Given the description of an element on the screen output the (x, y) to click on. 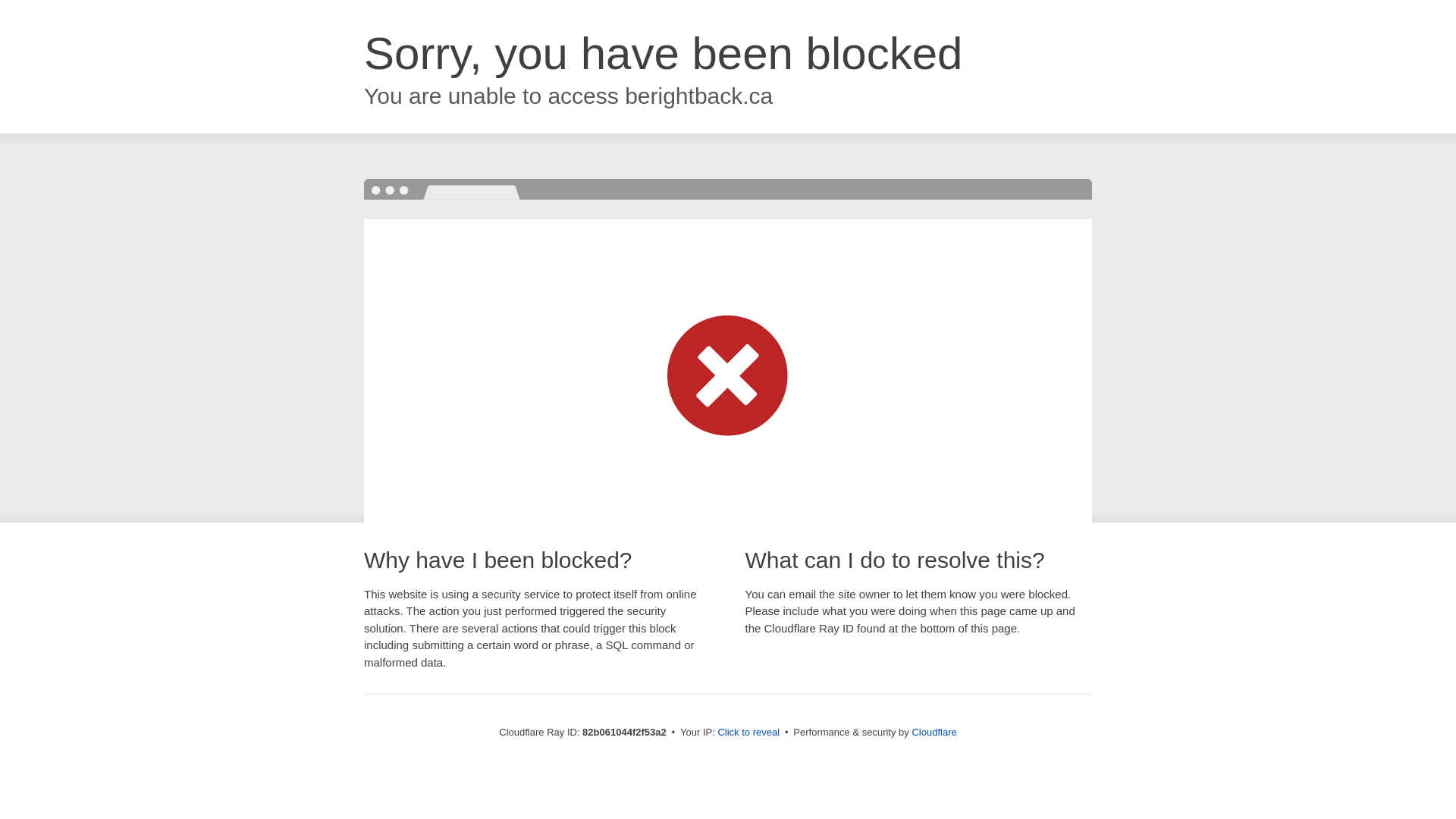
Cloudflare Element type: text (933, 731)
Click to reveal Element type: text (748, 732)
